Given the description of an element on the screen output the (x, y) to click on. 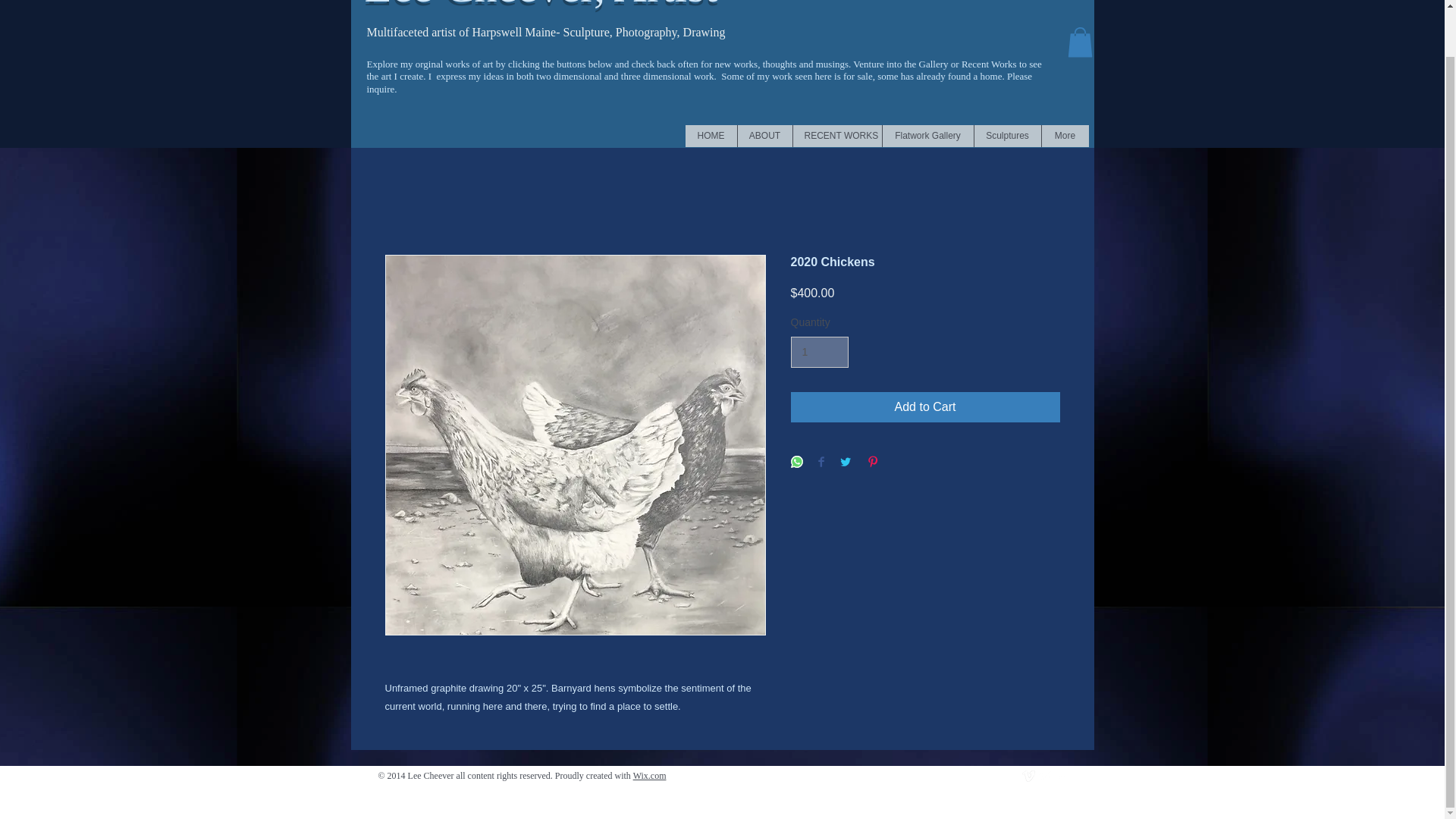
1 (818, 351)
Wix.com (649, 775)
Flatwork Gallery (926, 136)
RECENT WORKS (836, 136)
ABOUT (764, 136)
Add to Cart (924, 407)
Sculptures (1007, 136)
HOME (710, 136)
